Given the description of an element on the screen output the (x, y) to click on. 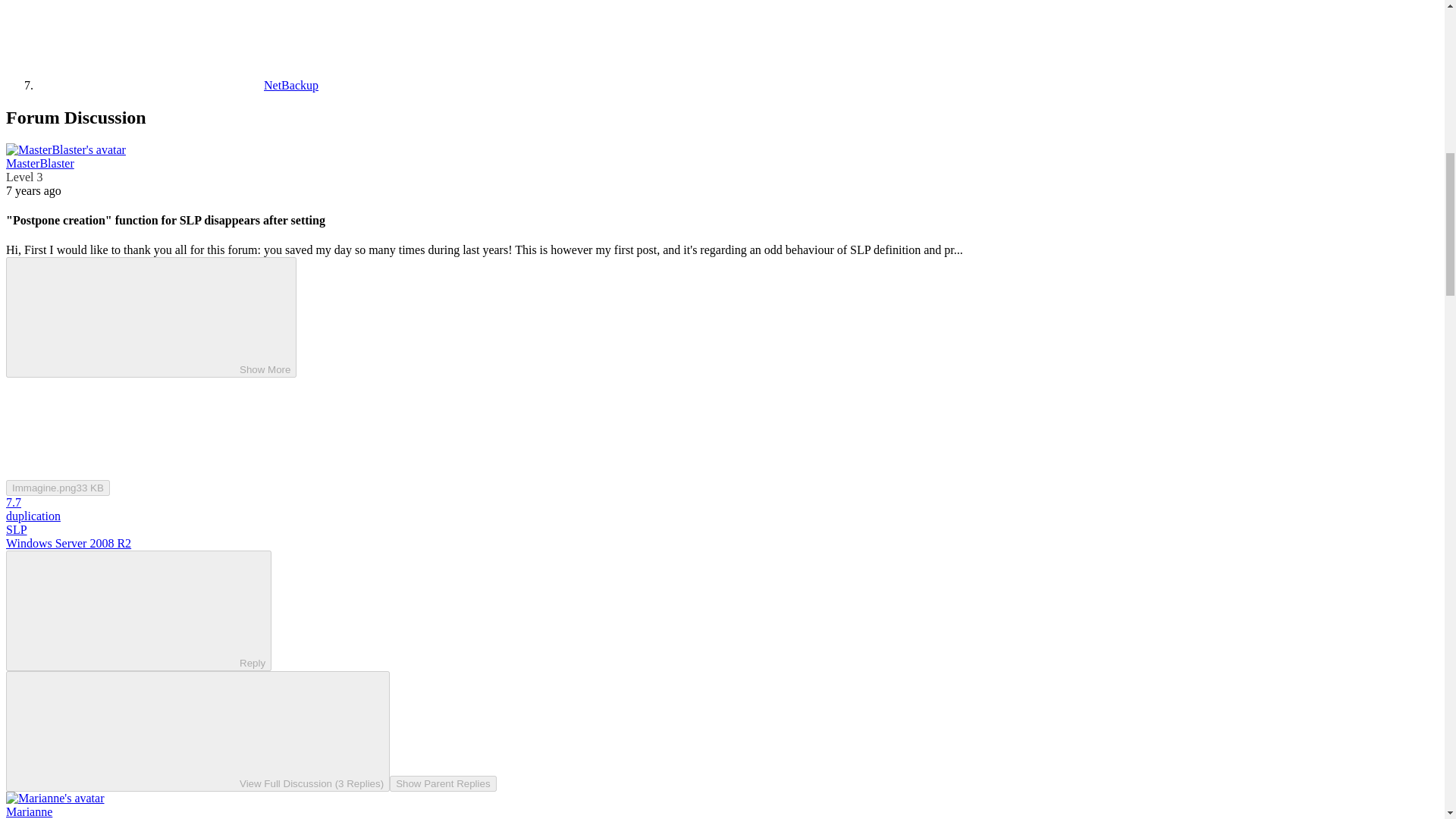
duplication (33, 515)
ReplyReply (137, 610)
MasterBlaster (39, 163)
Show Parent Replies (443, 783)
October 26, 2017 at 1:52 PM (33, 190)
Show More (151, 317)
SLP (16, 529)
Marianne (28, 811)
Windows Server 2008 R2 (68, 543)
Reply (125, 609)
NetBackup (177, 84)
Immagine.png33 KB (57, 487)
7.7 (13, 502)
